Given the description of an element on the screen output the (x, y) to click on. 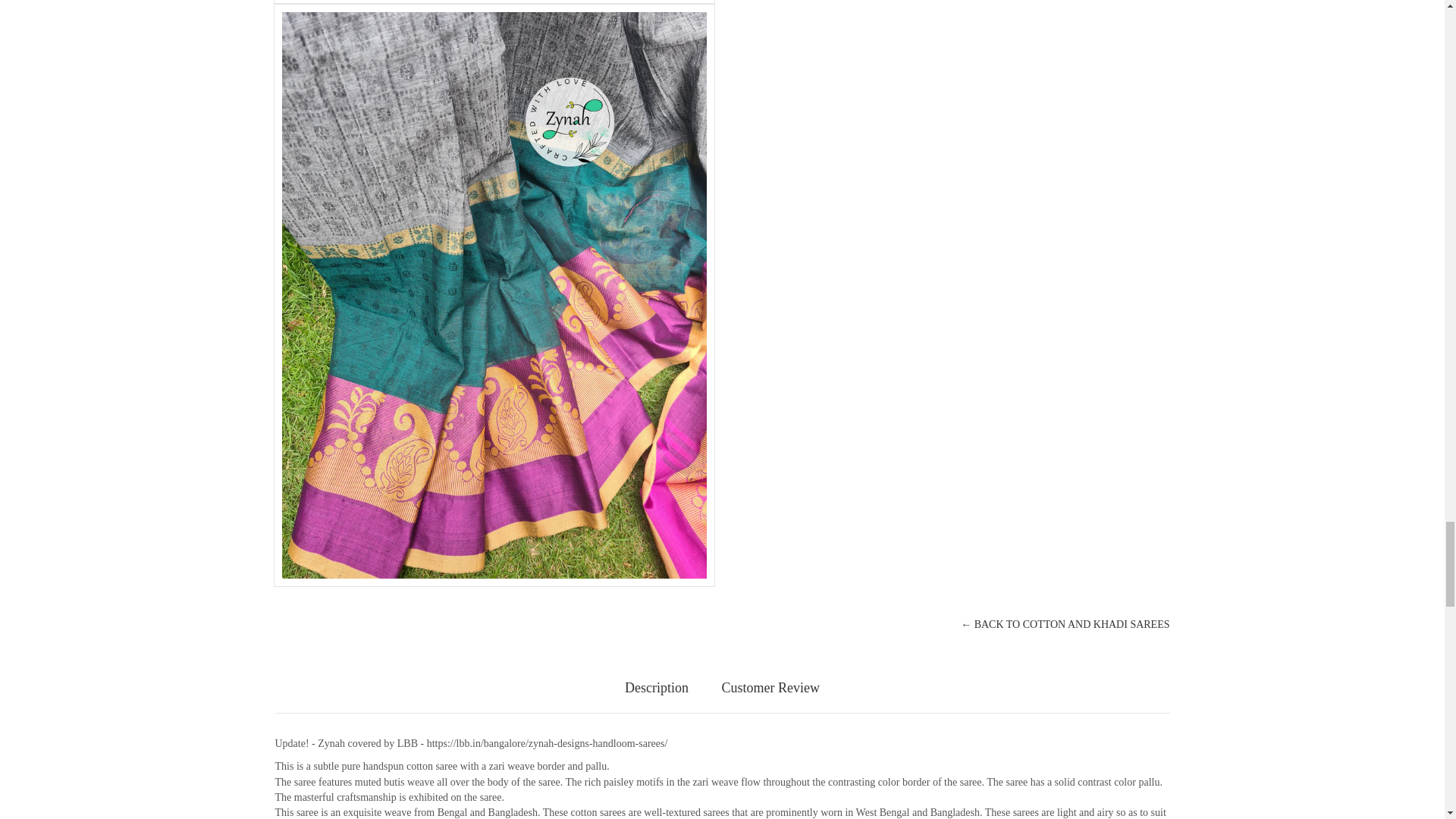
Description (656, 687)
Customer Review (770, 687)
